Given the description of an element on the screen output the (x, y) to click on. 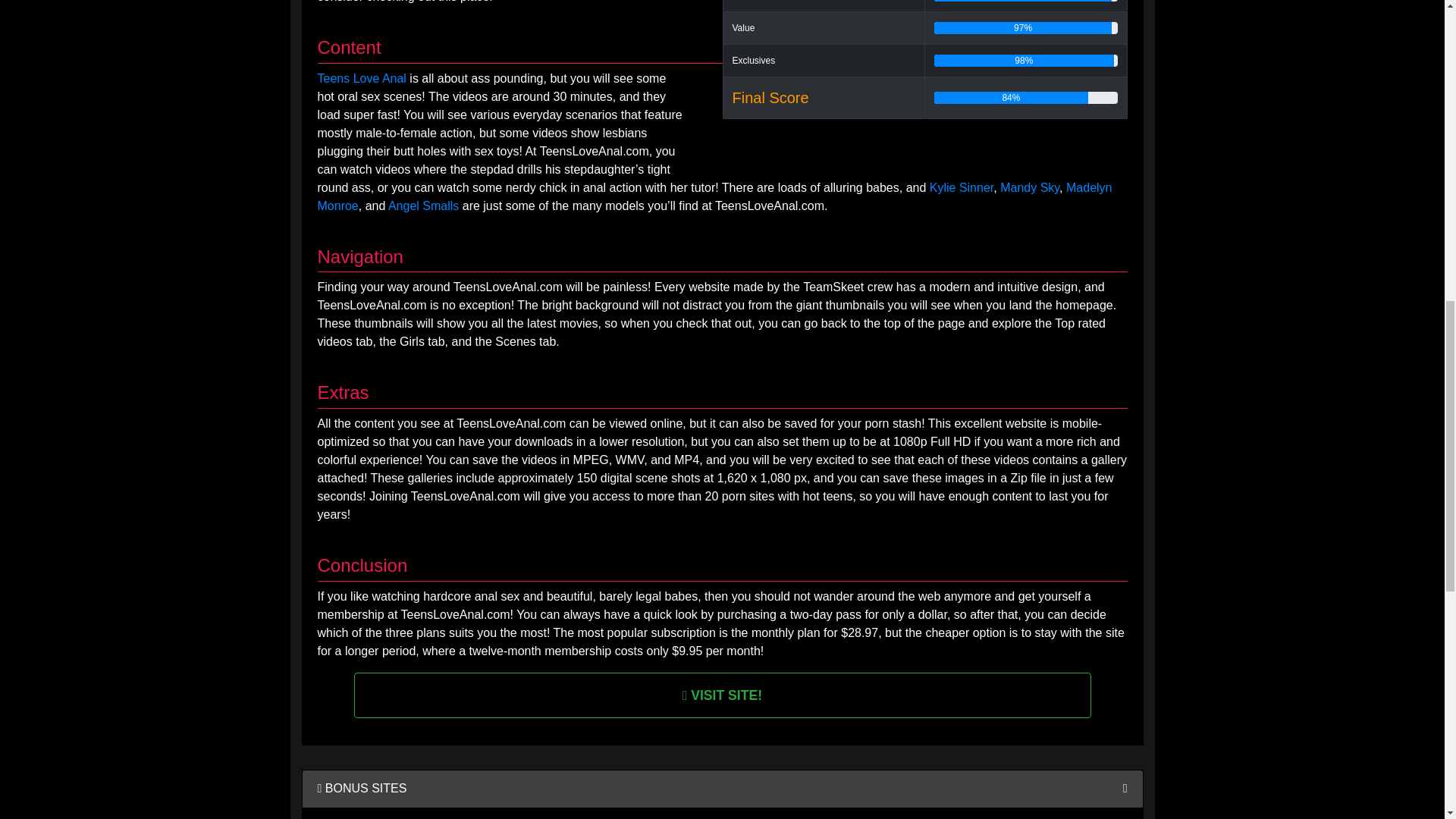
Kylie Sinner (962, 187)
Visit Teens Love Anal (721, 695)
Teens Love Anal (361, 78)
VISIT SITE! (721, 695)
Angel Smalls (423, 205)
Madelyn Monroe (714, 196)
BONUS SITES (361, 788)
Mandy Sky (1029, 187)
